Given the description of an element on the screen output the (x, y) to click on. 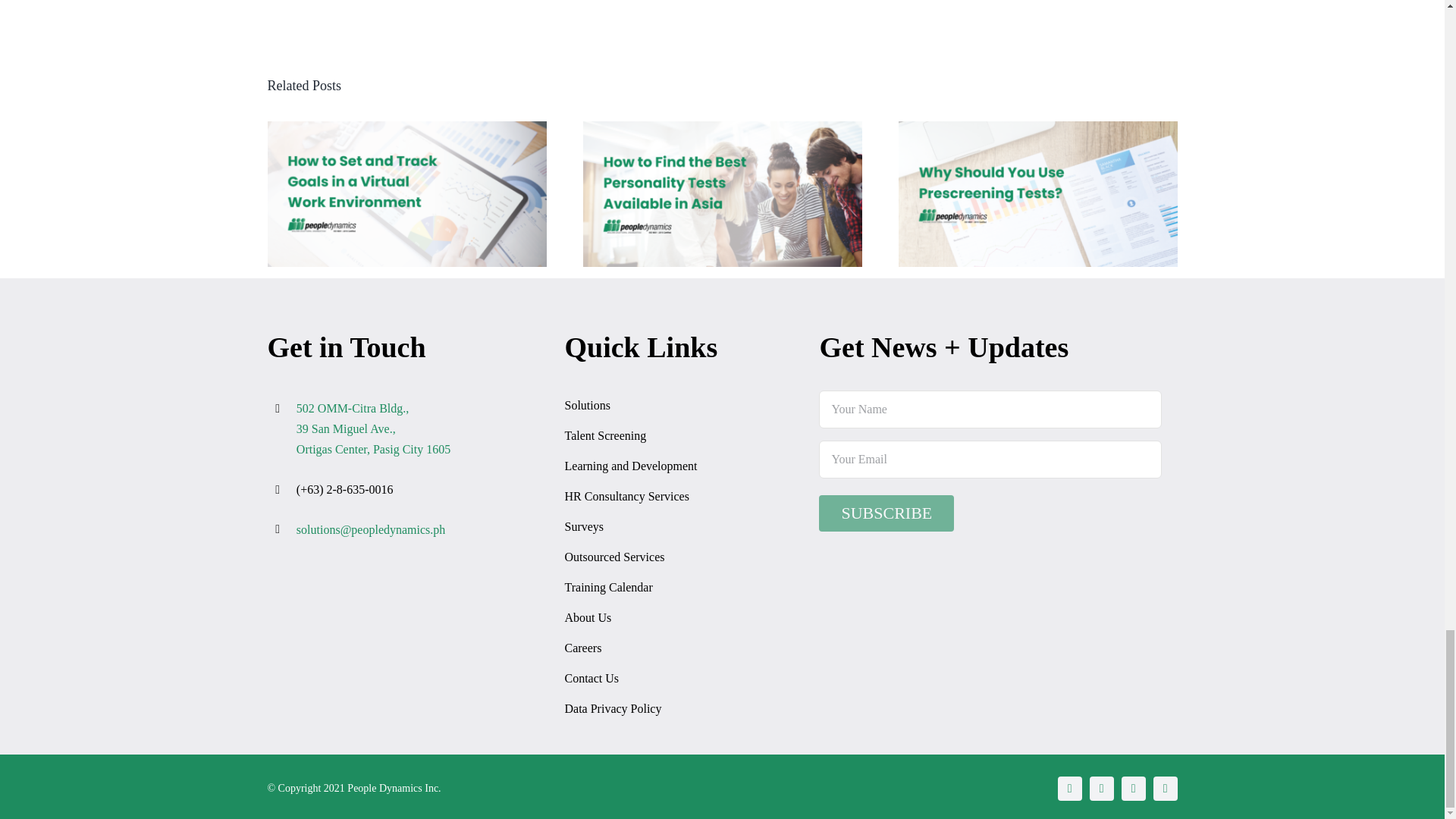
SUBSCRIBE (885, 513)
